Given the description of an element on the screen output the (x, y) to click on. 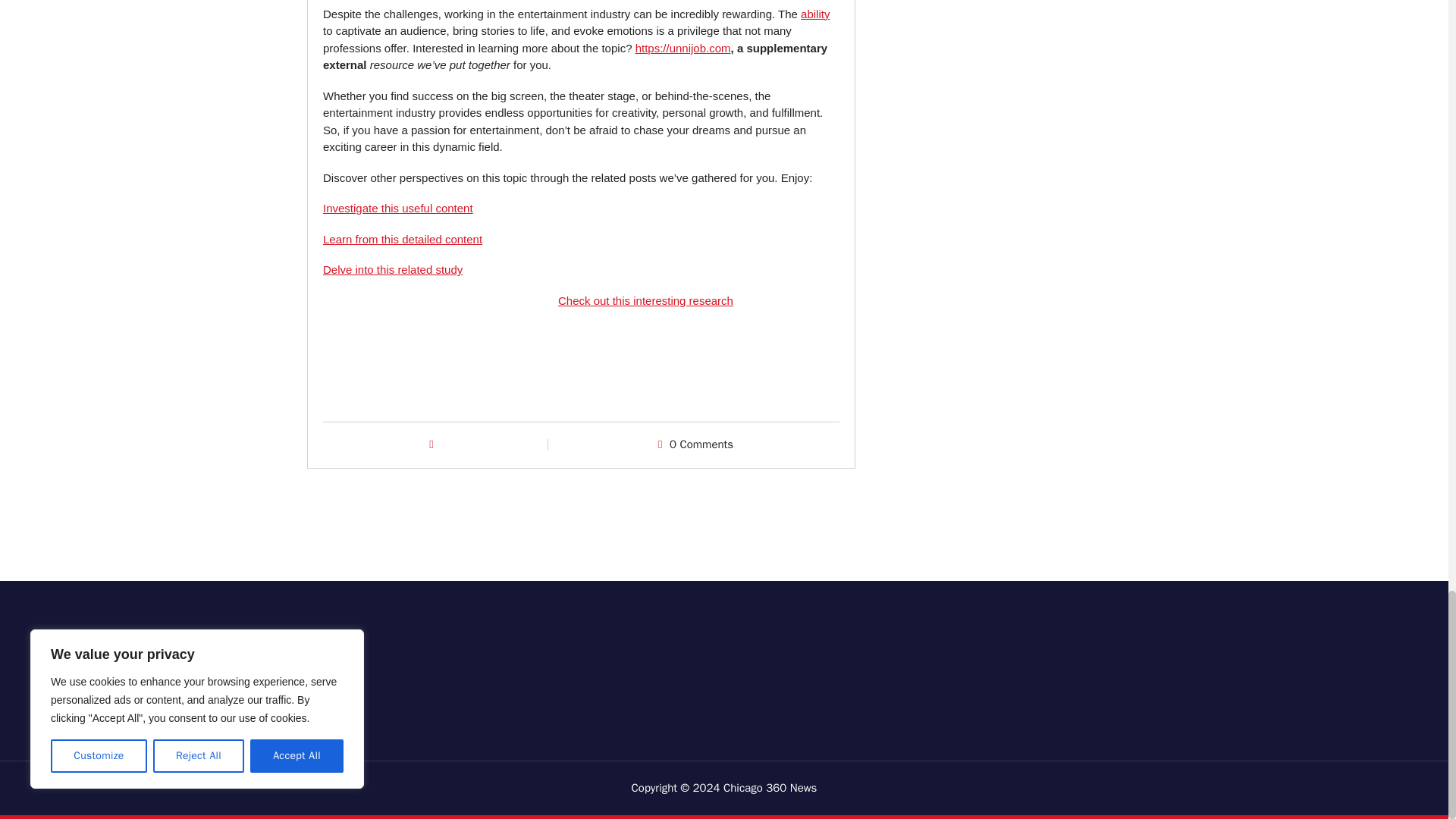
Learn from this detailed content (402, 238)
ability (814, 13)
Investigate this useful content (398, 207)
